Given the description of an element on the screen output the (x, y) to click on. 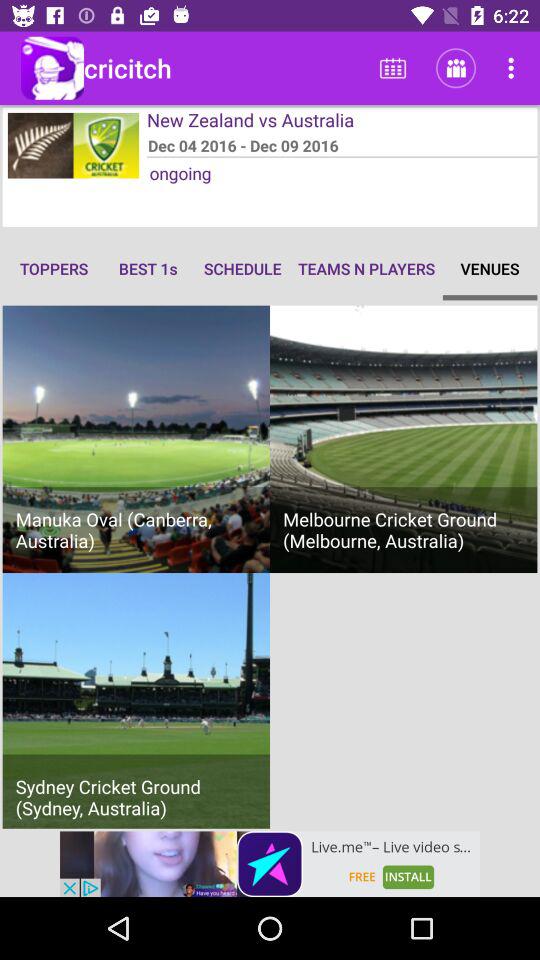
advertisement option (270, 864)
